Given the description of an element on the screen output the (x, y) to click on. 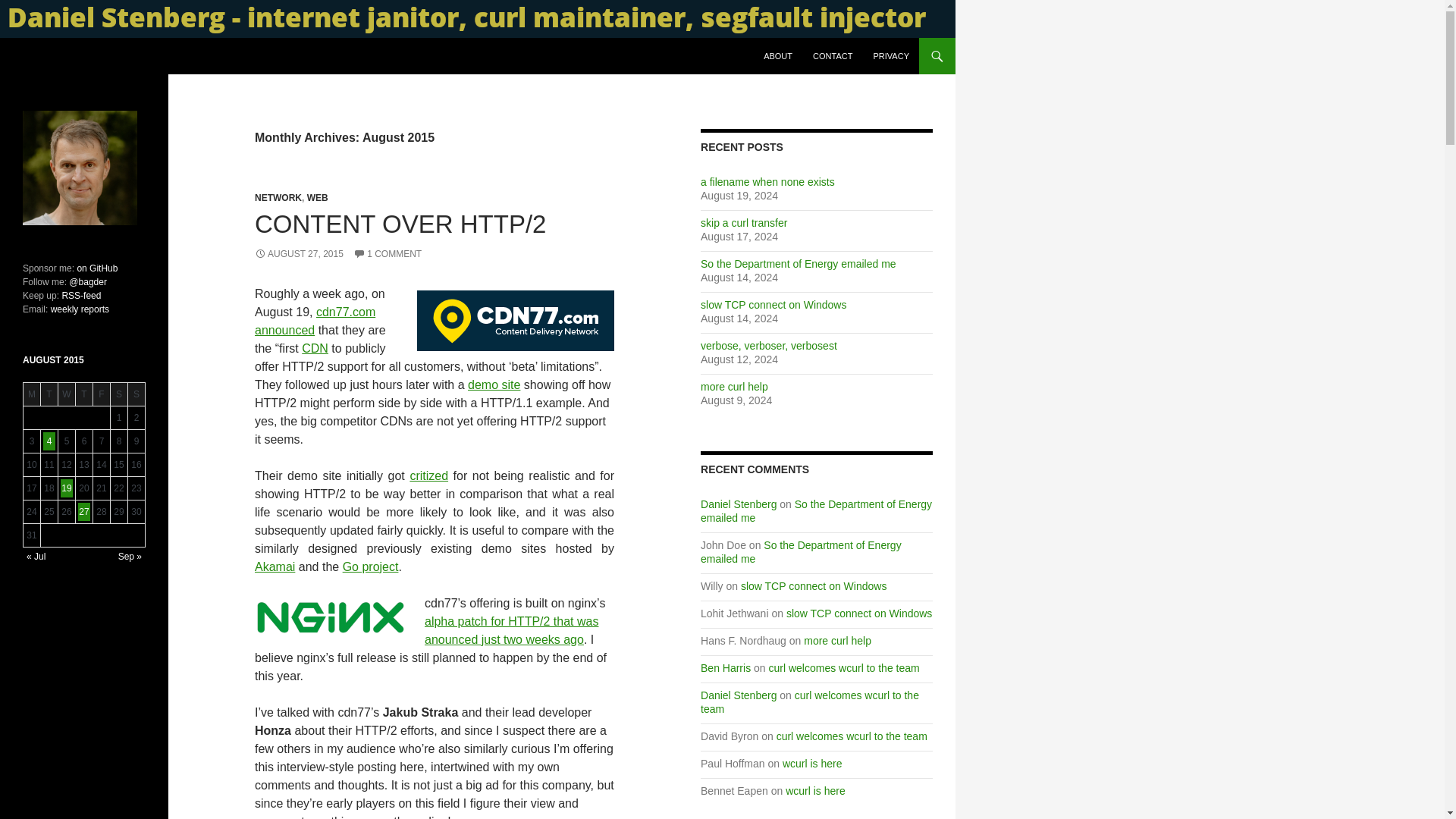
cdn77 logo (515, 320)
ABOUT (778, 55)
Go project (370, 566)
daniel.haxx.se (69, 55)
AUGUST 27, 2015 (298, 253)
1 COMMENT (387, 253)
CONTACT (832, 55)
NGINX logo (330, 616)
demo site (493, 384)
